Given the description of an element on the screen output the (x, y) to click on. 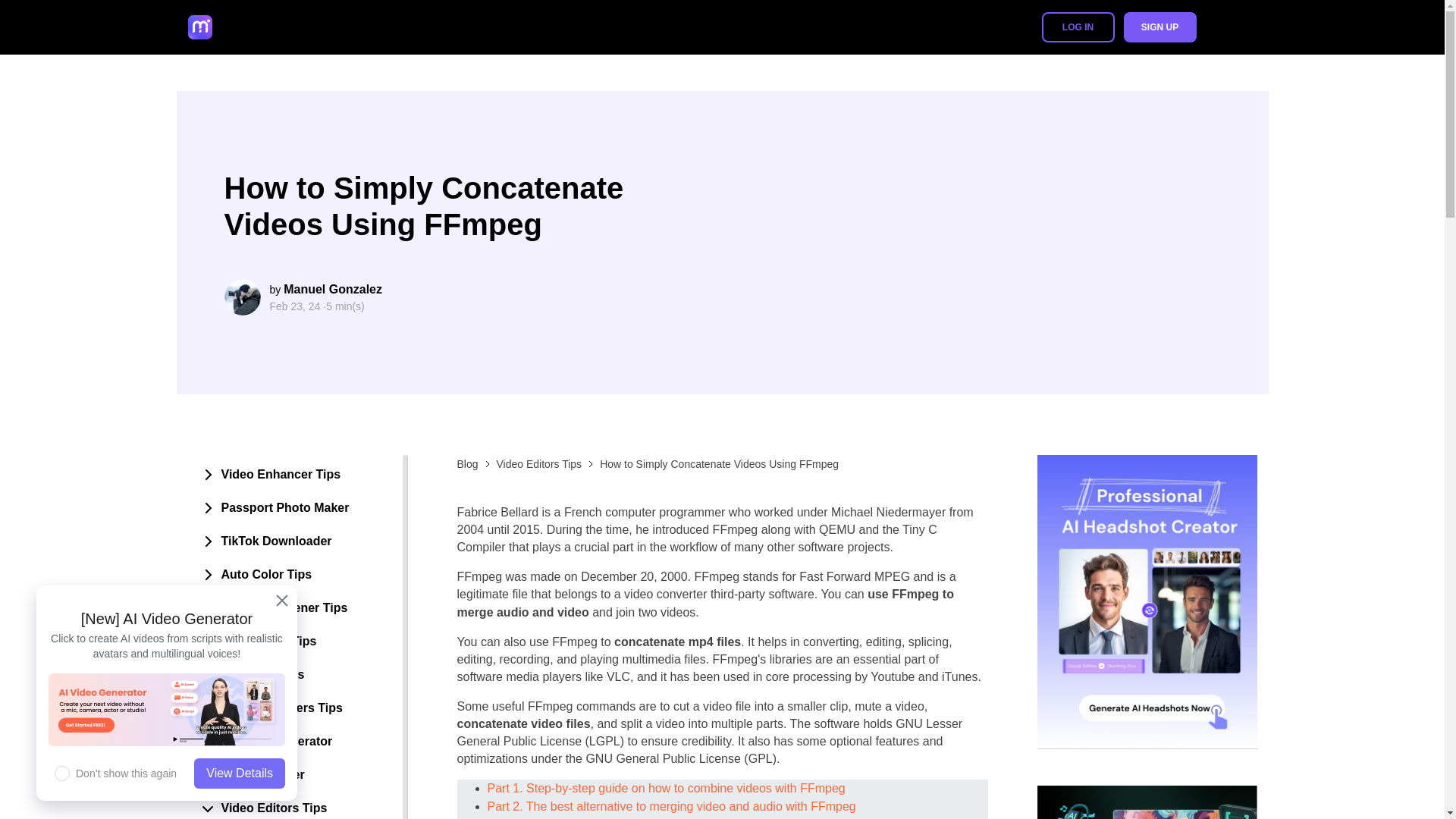
Media.io (244, 27)
